Given the description of an element on the screen output the (x, y) to click on. 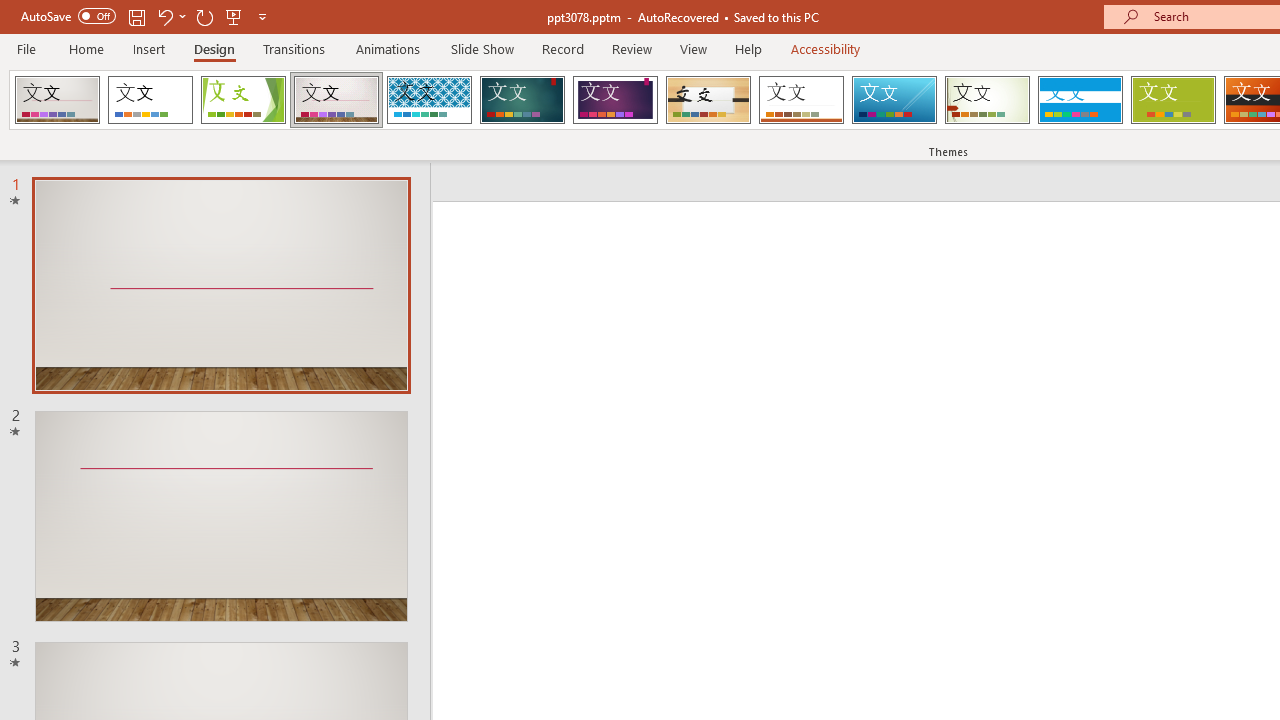
Basis (1172, 100)
Ion (522, 100)
Ion Boardroom (615, 100)
Facet (243, 100)
